Given the description of an element on the screen output the (x, y) to click on. 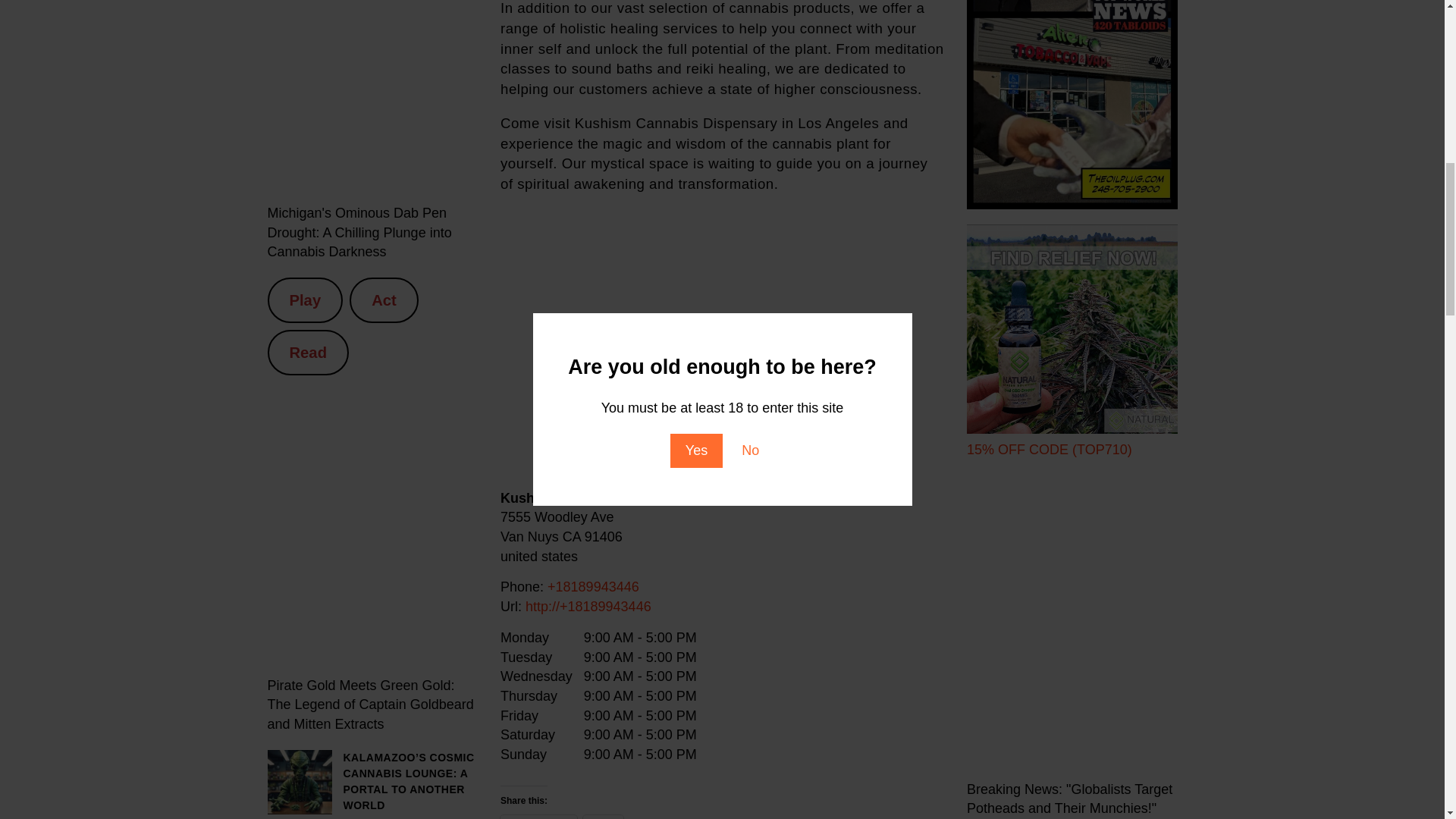
Read (307, 352)
Click to share on Facebook (538, 816)
Click to share on X (603, 816)
X (603, 816)
Act (384, 299)
Play (304, 299)
Facebook (538, 816)
